Given the description of an element on the screen output the (x, y) to click on. 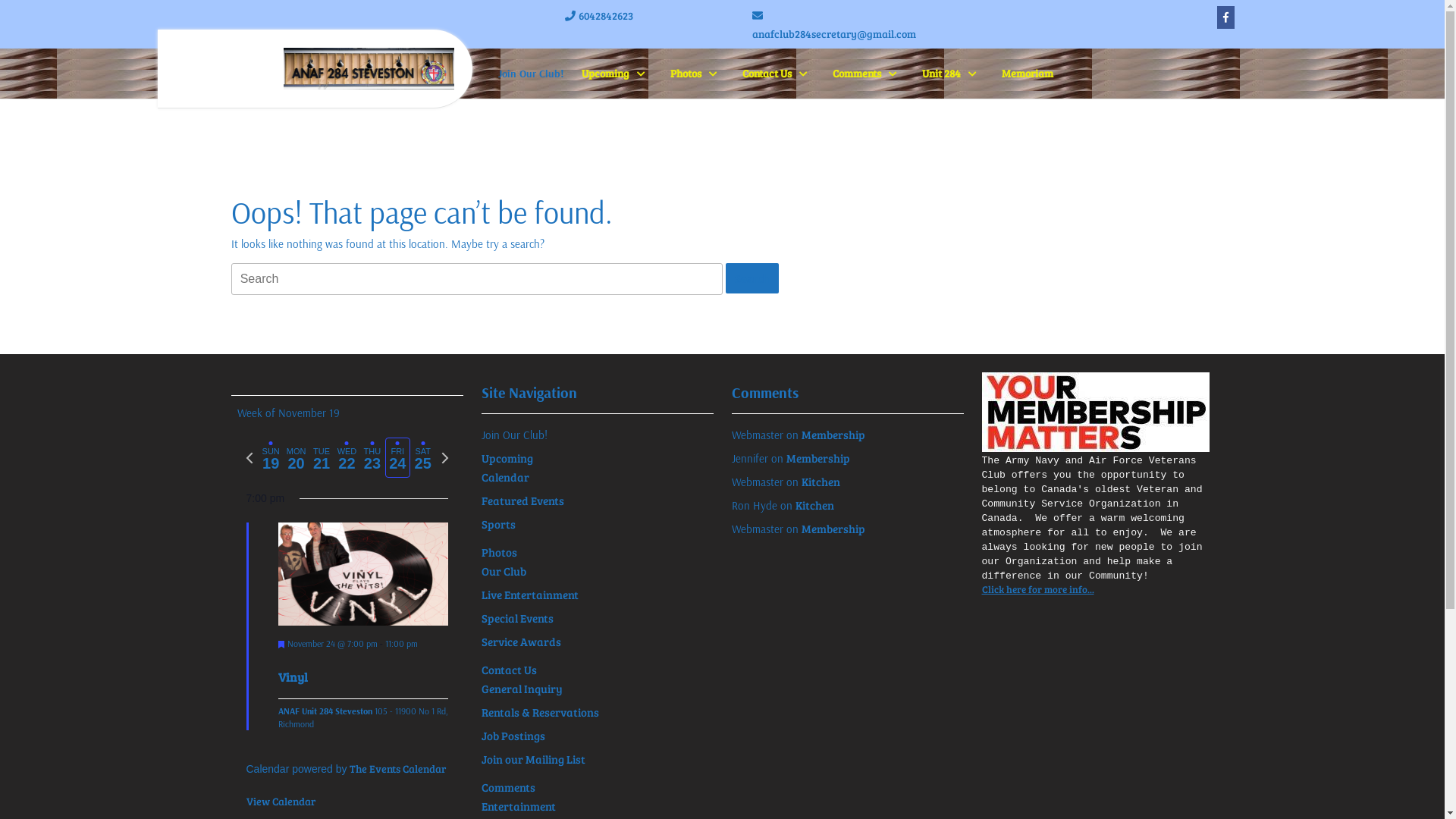
Photos Element type: text (498, 551)
6042842623
6042842623 Element type: text (598, 15)
Sports Element type: text (497, 523)
Join our Mailing List Element type: text (532, 758)
FRI
24 Element type: text (397, 457)
Membership Element type: text (832, 528)
Kitchen Element type: text (813, 504)
Comments Element type: text (868, 72)
Previous week Element type: text (248, 457)
Comments Element type: text (507, 786)
Special Events Element type: text (516, 617)
The Events Calendar Element type: text (397, 768)
Memoriam Element type: text (1026, 72)
Contact Us Element type: text (778, 72)
Unit 284 Element type: text (952, 72)
Upcoming Element type: text (506, 457)
Has events Element type: hover (346, 443)
SUN
19 Element type: text (269, 457)
Calendar Element type: text (504, 476)
Entertainment Element type: text (517, 805)
Next week Element type: text (444, 457)
WED
22 Element type: text (346, 457)
Vinyl Element type: hover (362, 574)
Search Element type: text (751, 278)
Service Awards Element type: text (520, 641)
Has events Element type: hover (271, 443)
Featured Events Element type: text (521, 500)
Live Entertainment Element type: text (528, 594)
Has events Element type: hover (422, 443)
Vinyl Element type: text (292, 676)
Join Our Club! Element type: text (513, 434)
Join Our Club! Element type: text (530, 73)
Job Postings Element type: text (512, 735)
Click here for more info... Element type: text (1037, 589)
TUE
21 Element type: text (320, 457)
Has events Element type: hover (371, 443)
Membership Element type: text (832, 434)
MON
20 Element type: text (295, 457)
Membership Element type: text (817, 457)
Has events Element type: hover (397, 443)
Rentals & Reservations Element type: text (539, 711)
View Calendar Element type: text (279, 801)
Contact Us Element type: text (508, 669)
THU
23 Element type: text (371, 457)
Our Club Element type: text (502, 570)
Upcoming Element type: text (616, 72)
Kitchen Element type: text (819, 481)
SAT
25 Element type: text (422, 457)
Facebook Element type: text (1225, 16)
Photos Element type: text (697, 72)
General Inquiry Element type: text (520, 688)
